Given the description of an element on the screen output the (x, y) to click on. 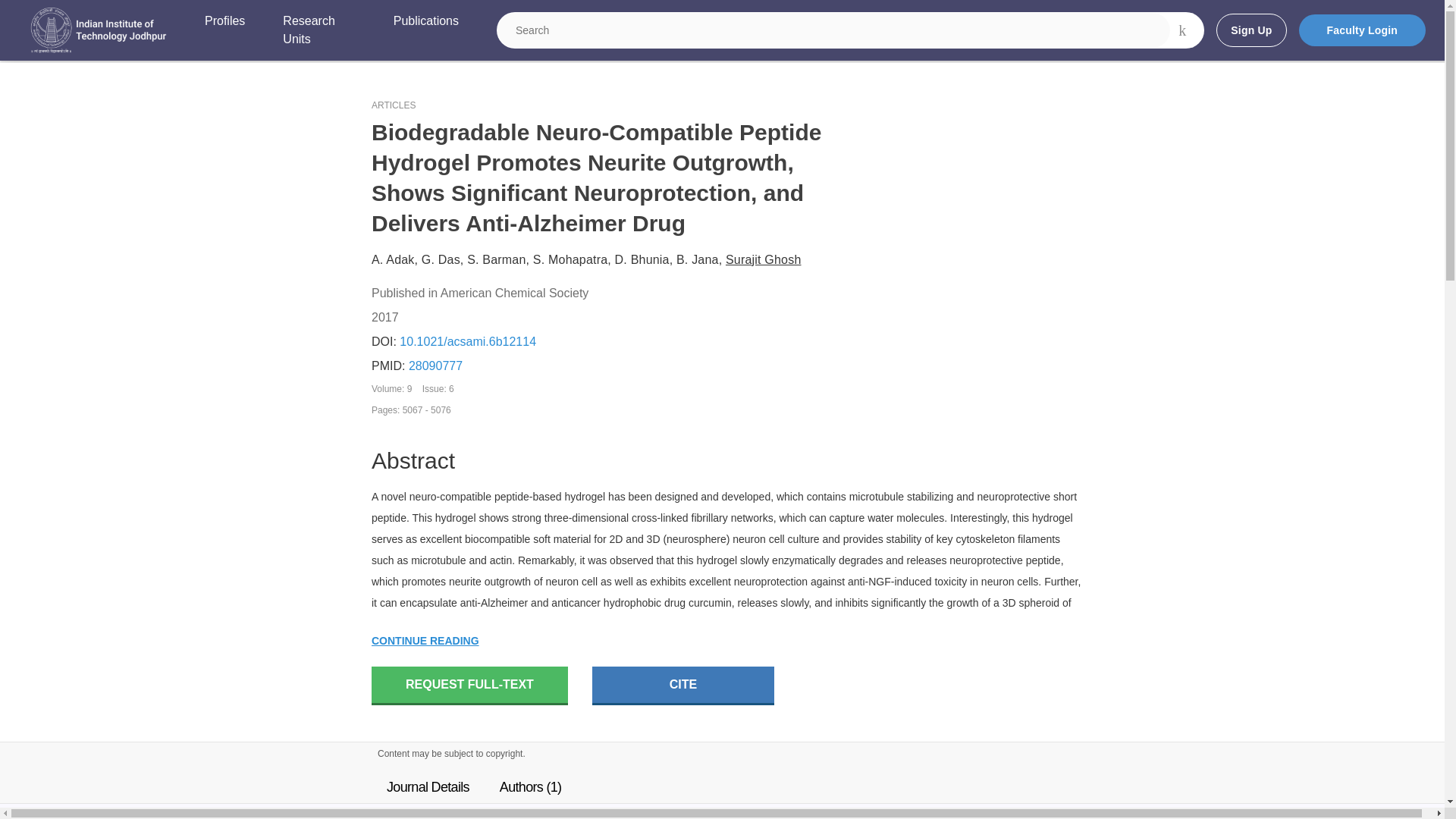
Sign Up (1250, 29)
Journal Details (427, 787)
REQUEST FULL-TEXT (469, 685)
28090777 (436, 365)
Surajit Ghosh (763, 259)
Research Units (318, 30)
Faculty Login (1361, 29)
Profiles (224, 30)
Publications (425, 30)
CITE (683, 685)
Institution logo (98, 30)
